Given the description of an element on the screen output the (x, y) to click on. 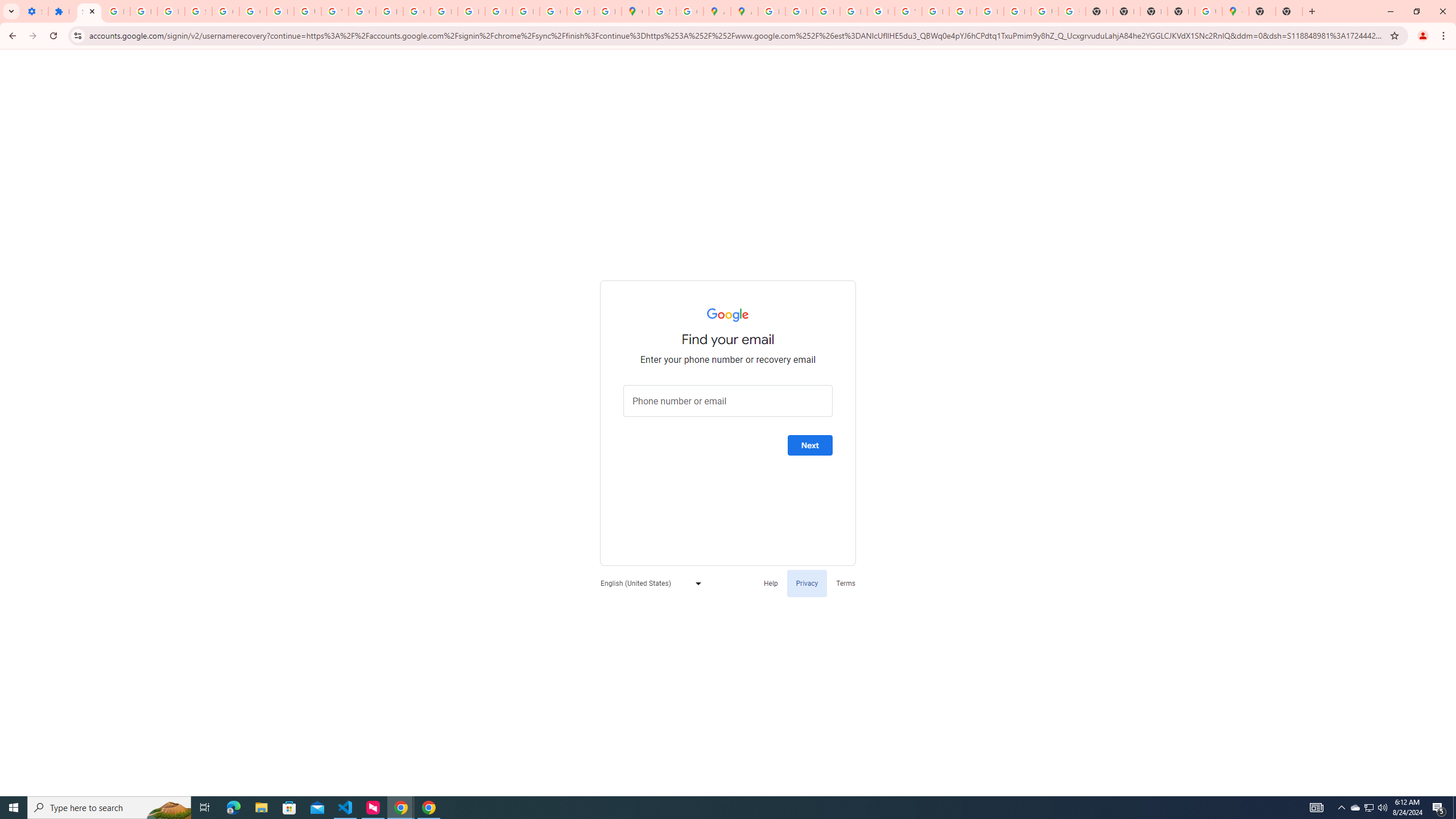
Sign in - Google Accounts (88, 11)
Help (770, 583)
Privacy Help Center - Policies Help (799, 11)
New Tab (1262, 11)
New Tab (1180, 11)
Delete photos & videos - Computer - Google Photos Help (116, 11)
Privacy Help Center - Policies Help (826, 11)
Privacy (806, 583)
Google Maps (634, 11)
